Given the description of an element on the screen output the (x, y) to click on. 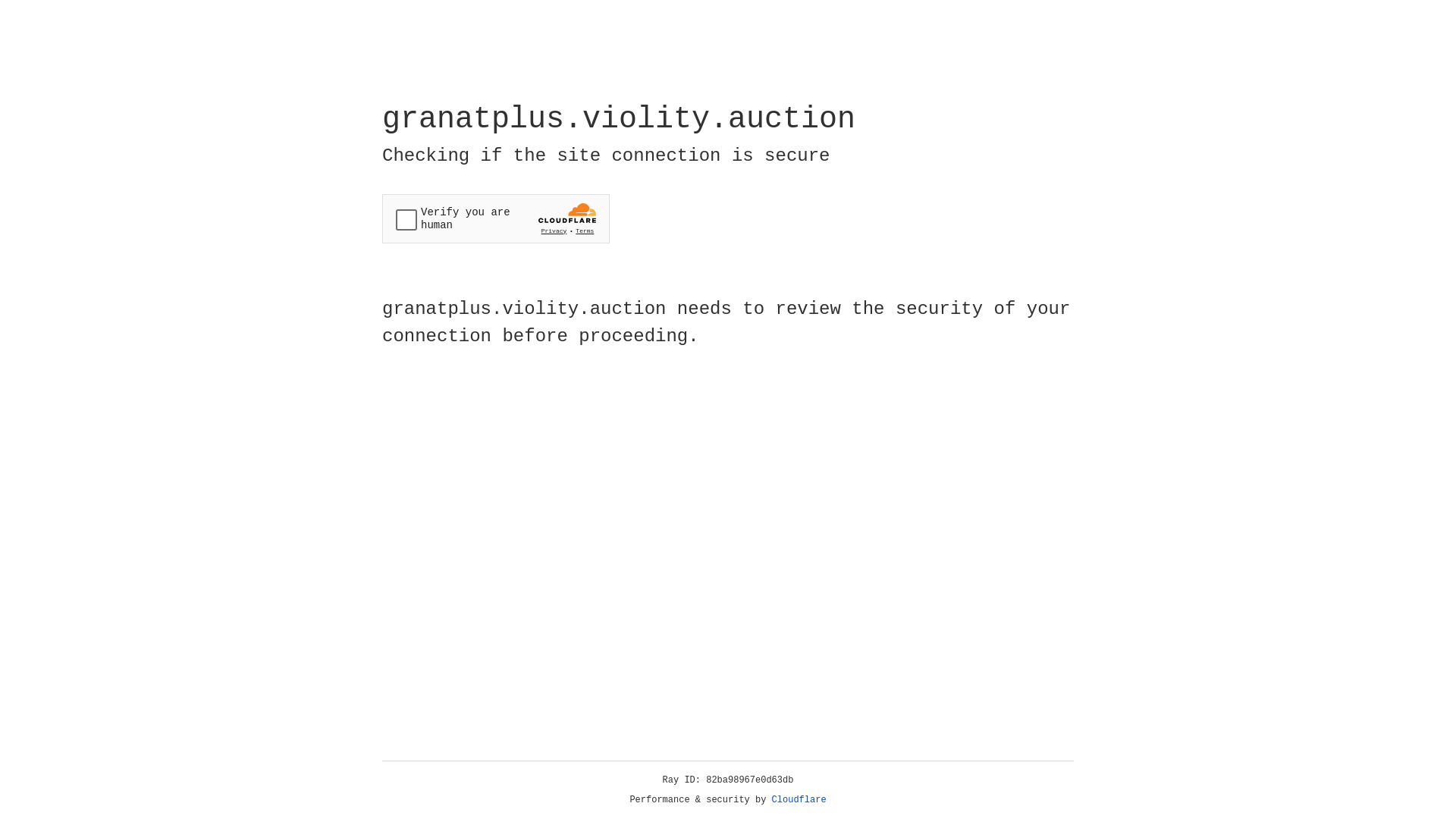
Cloudflare Element type: text (798, 799)
Widget containing a Cloudflare security challenge Element type: hover (495, 218)
